Given the description of an element on the screen output the (x, y) to click on. 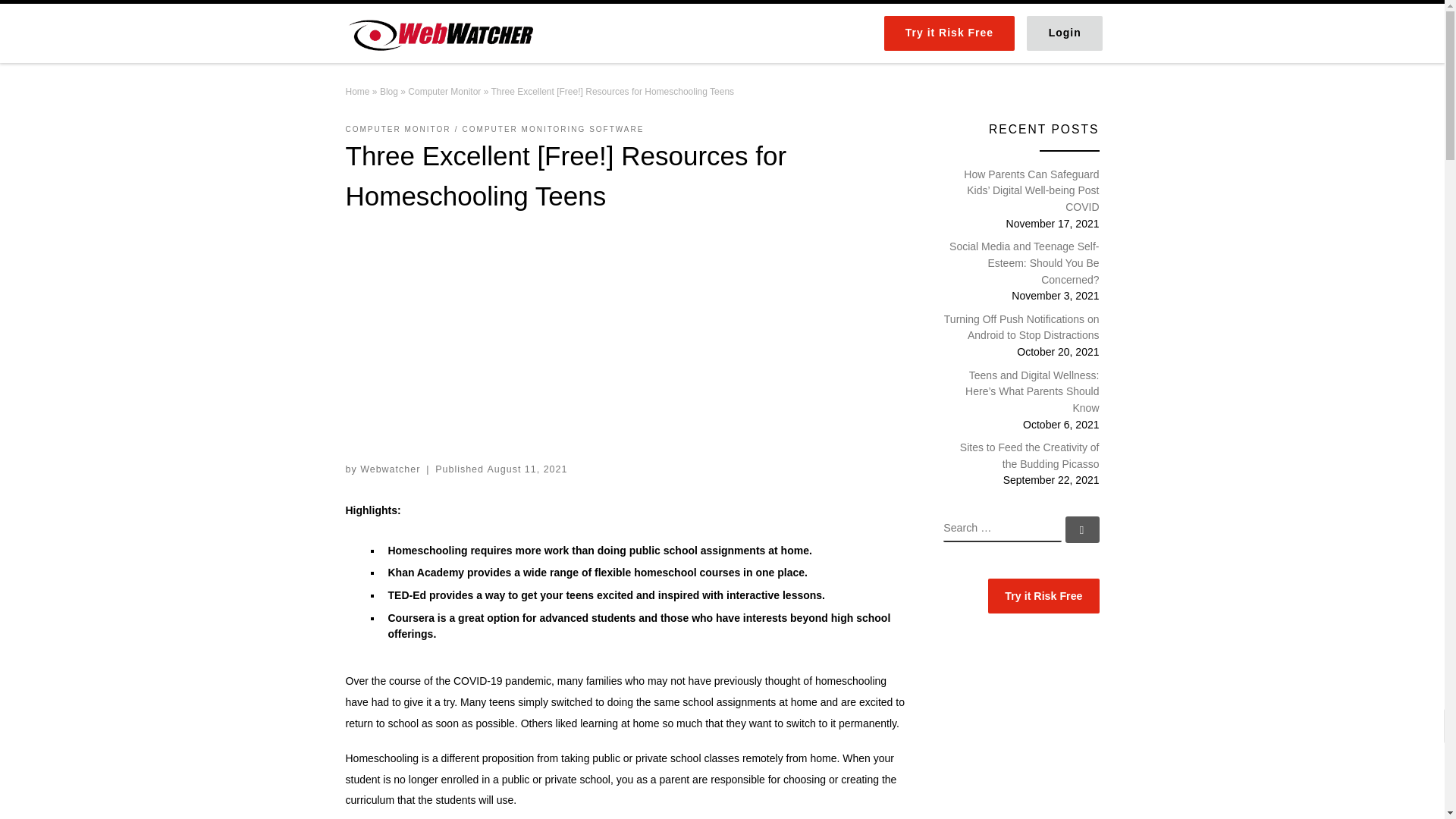
Skip to content (60, 20)
Blog (388, 91)
COMPUTER MONITORING SOFTWARE (554, 129)
Computer Monitor (443, 91)
Try it Risk Free (949, 33)
8:00 am (526, 469)
View all posts in Computer Monitoring Software (554, 129)
Blog (388, 91)
COMPUTER MONITOR (398, 129)
Login (1064, 33)
Webwatcher (357, 91)
Home (357, 91)
Computer Monitor (443, 91)
